Given the description of an element on the screen output the (x, y) to click on. 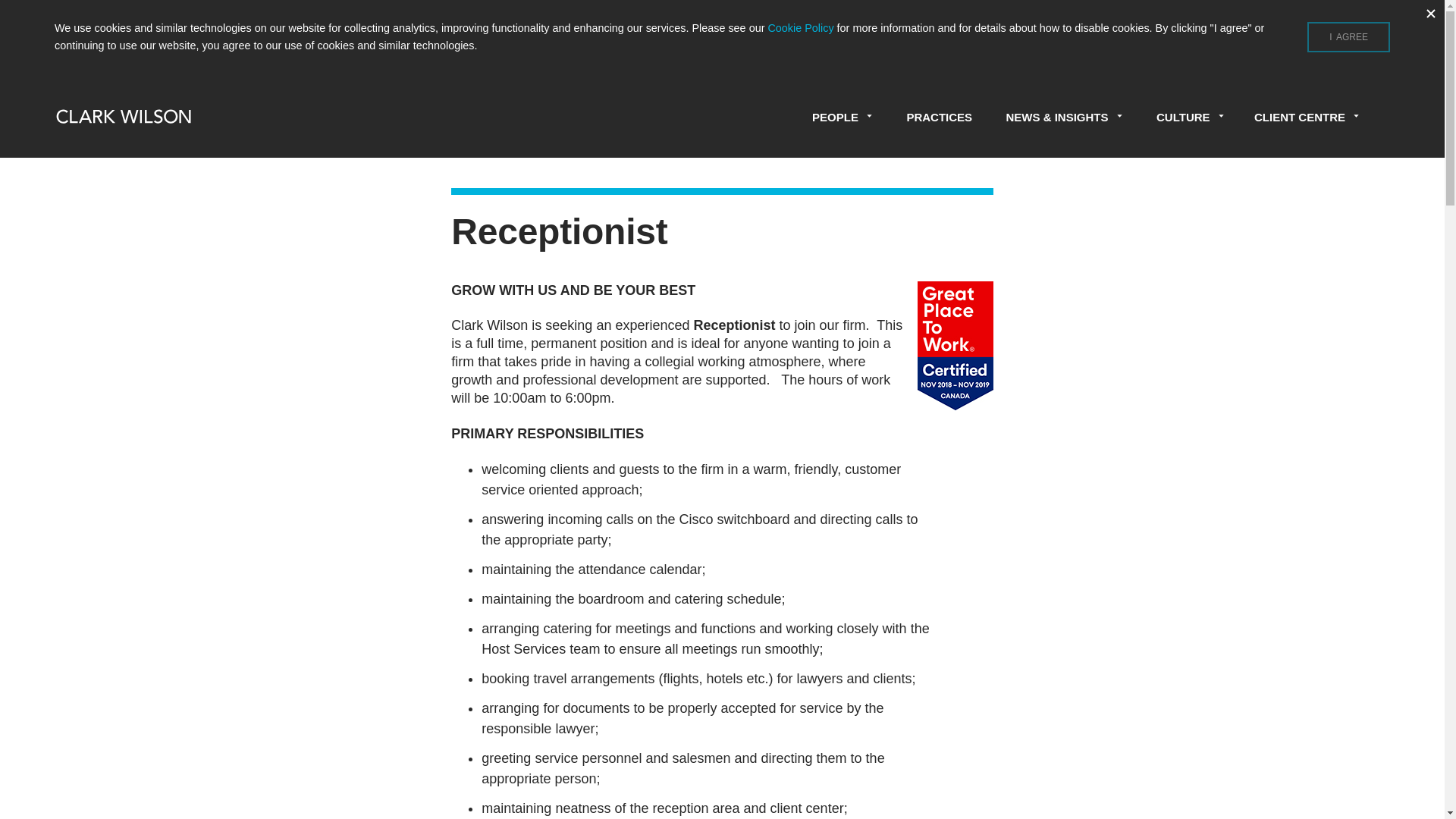
CULTURE (1190, 116)
I AGREE (1348, 37)
PEOPLE (842, 116)
Cookie Policy (799, 28)
CLIENT CENTRE (1306, 116)
PRACTICES (938, 116)
